Given the description of an element on the screen output the (x, y) to click on. 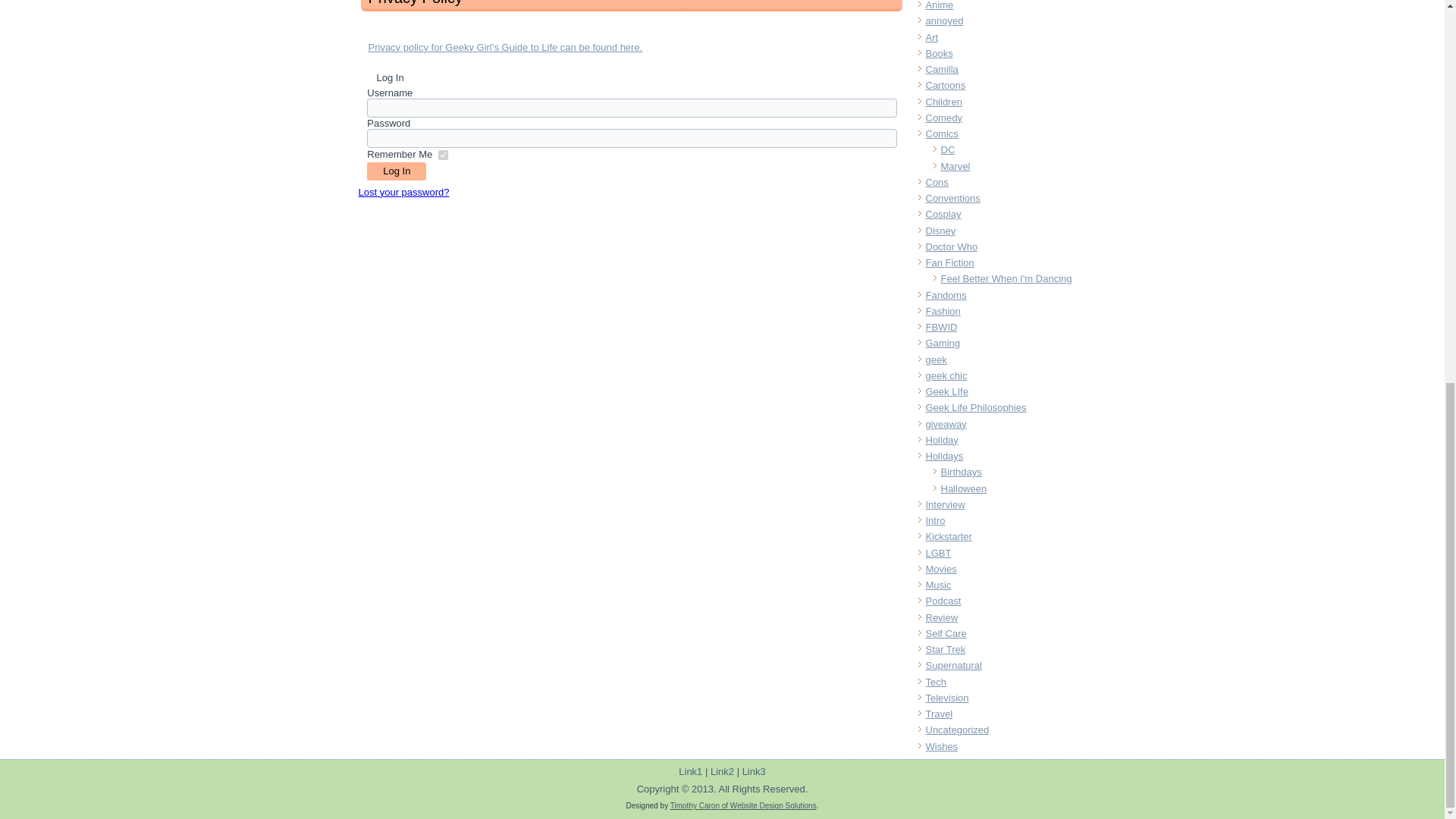
Cons (935, 182)
Fandoms (945, 295)
Marvel (954, 165)
Children (942, 101)
Disney (939, 230)
Cartoons (944, 84)
Feel Better When I'm Dancing (1005, 278)
Anime (938, 5)
Comics (941, 133)
Books (938, 52)
Doctor Who (950, 246)
annoyed (943, 20)
Log In (396, 171)
Cosplay (942, 214)
forever (443, 154)
